Given the description of an element on the screen output the (x, y) to click on. 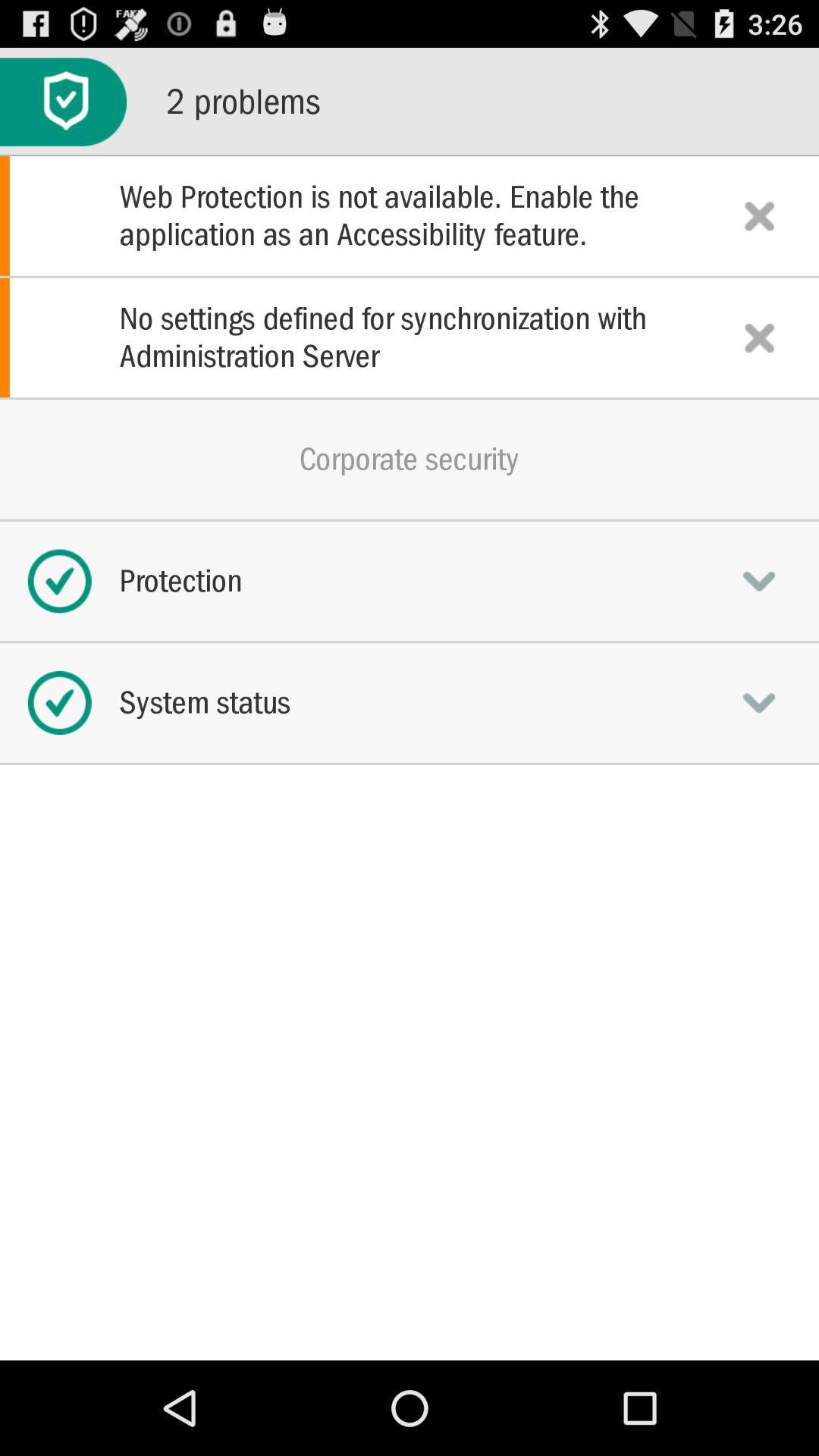
open the no settings defined app (409, 337)
